Given the description of an element on the screen output the (x, y) to click on. 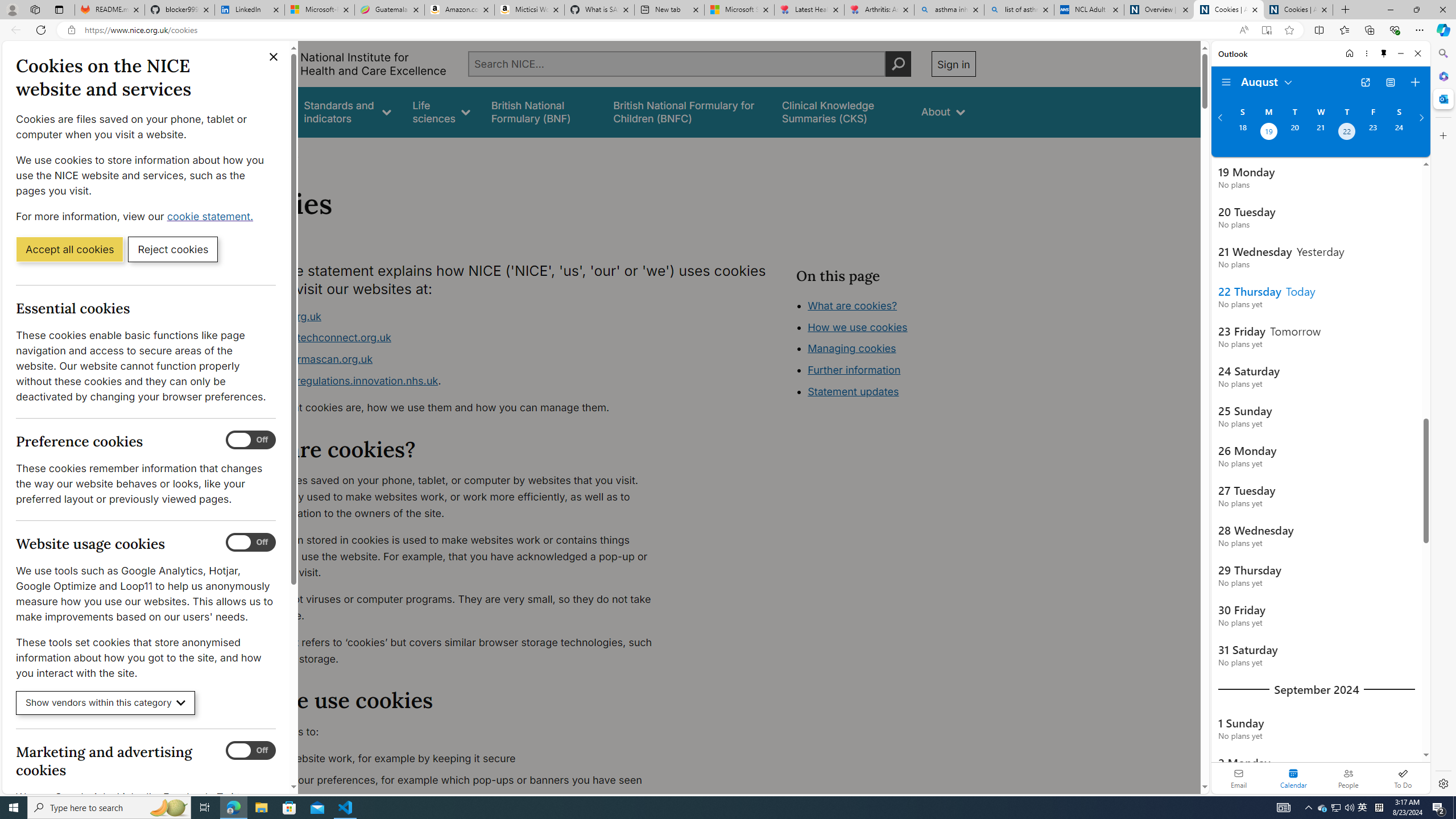
Email (1238, 777)
View Switcher. Current view is Agenda view (1390, 82)
